Given the description of an element on the screen output the (x, y) to click on. 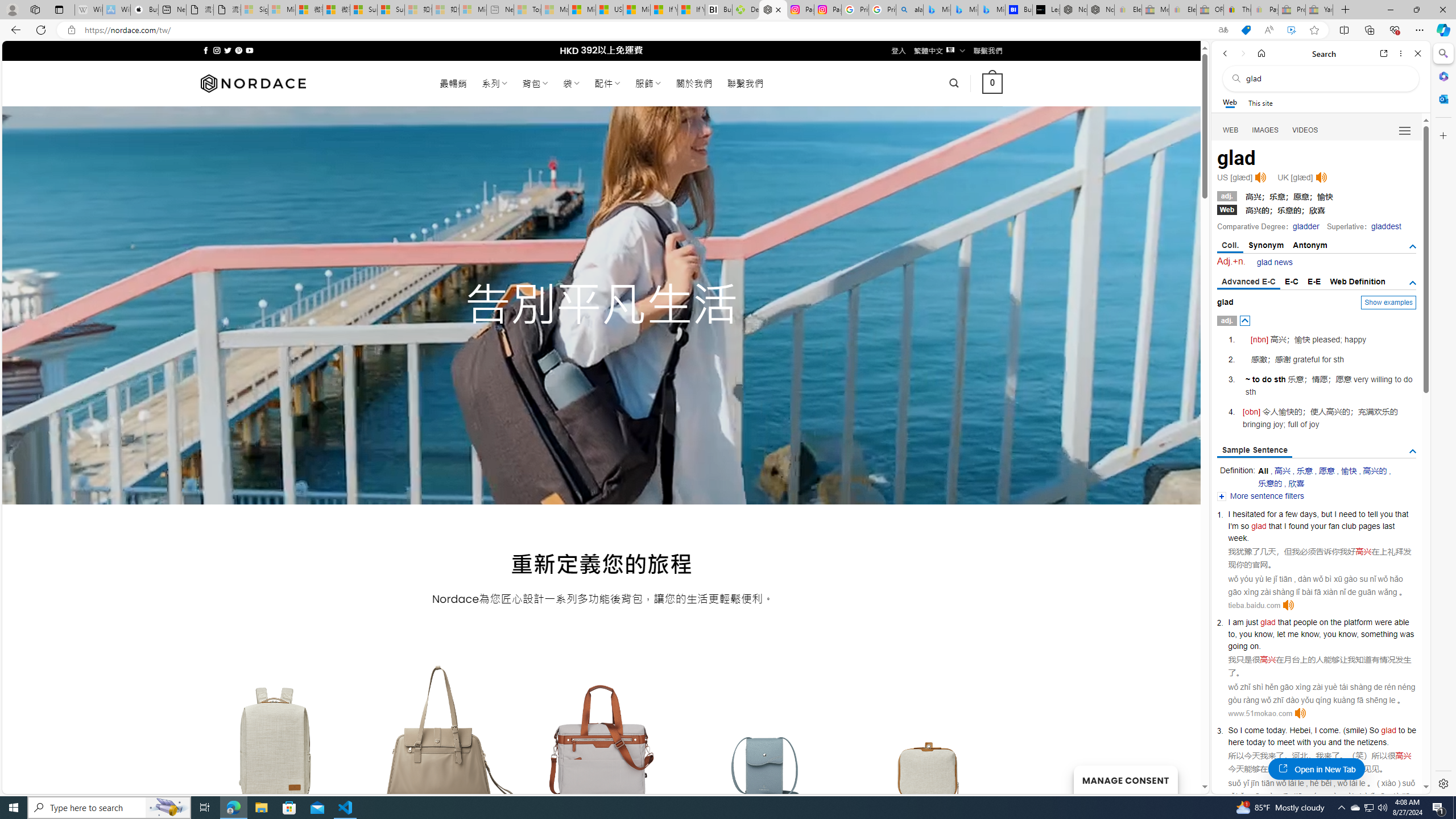
View site information (70, 29)
Nordace (252, 83)
( (1344, 729)
tell (1372, 513)
Split screen (1344, 29)
Search (1442, 53)
Microsoft Bing Travel - Shangri-La Hotel Bangkok (991, 9)
